Given the description of an element on the screen output the (x, y) to click on. 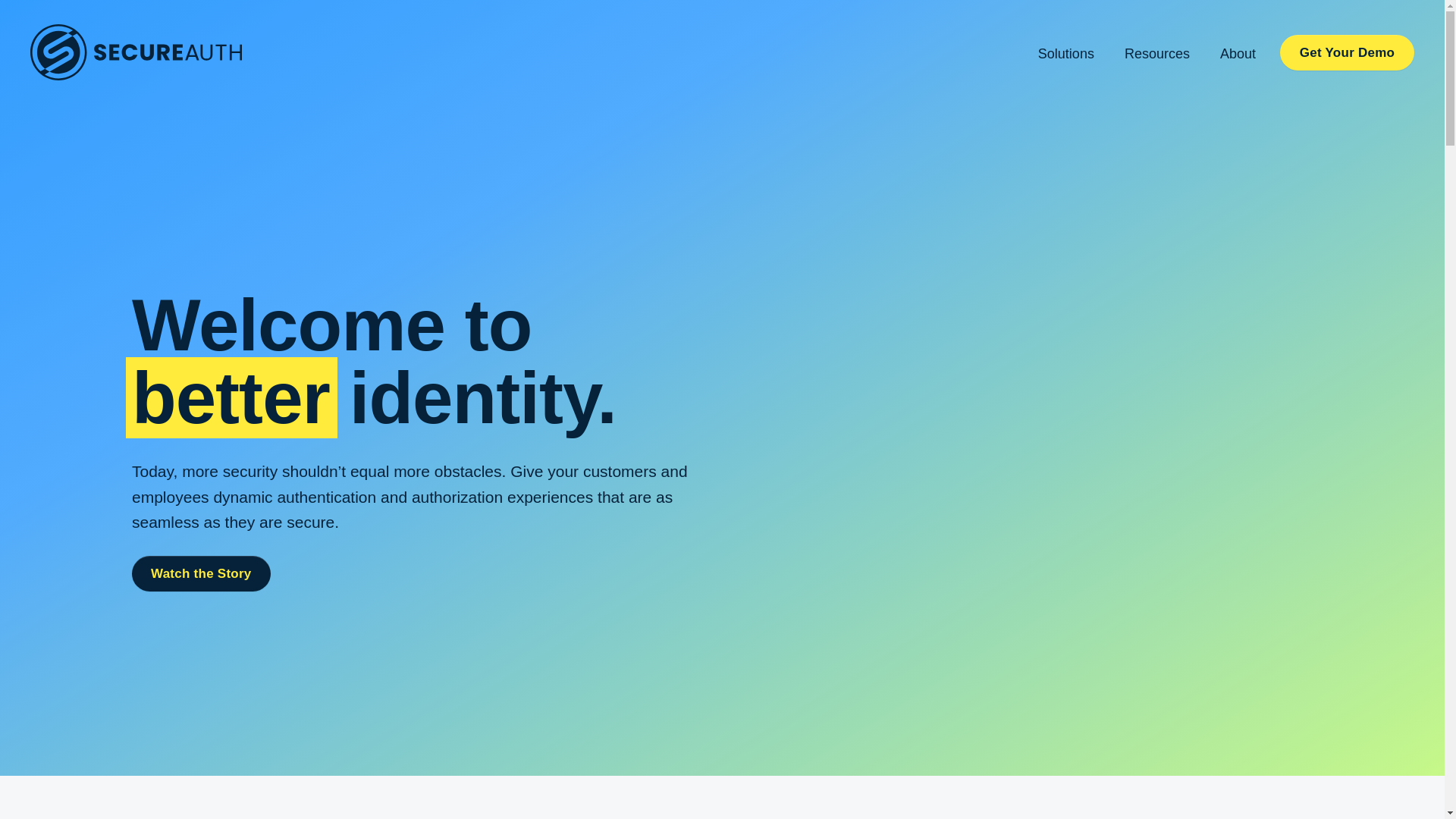
About (1237, 52)
Solutions (1066, 52)
Resources (1156, 52)
Solutions (1066, 52)
